Given the description of an element on the screen output the (x, y) to click on. 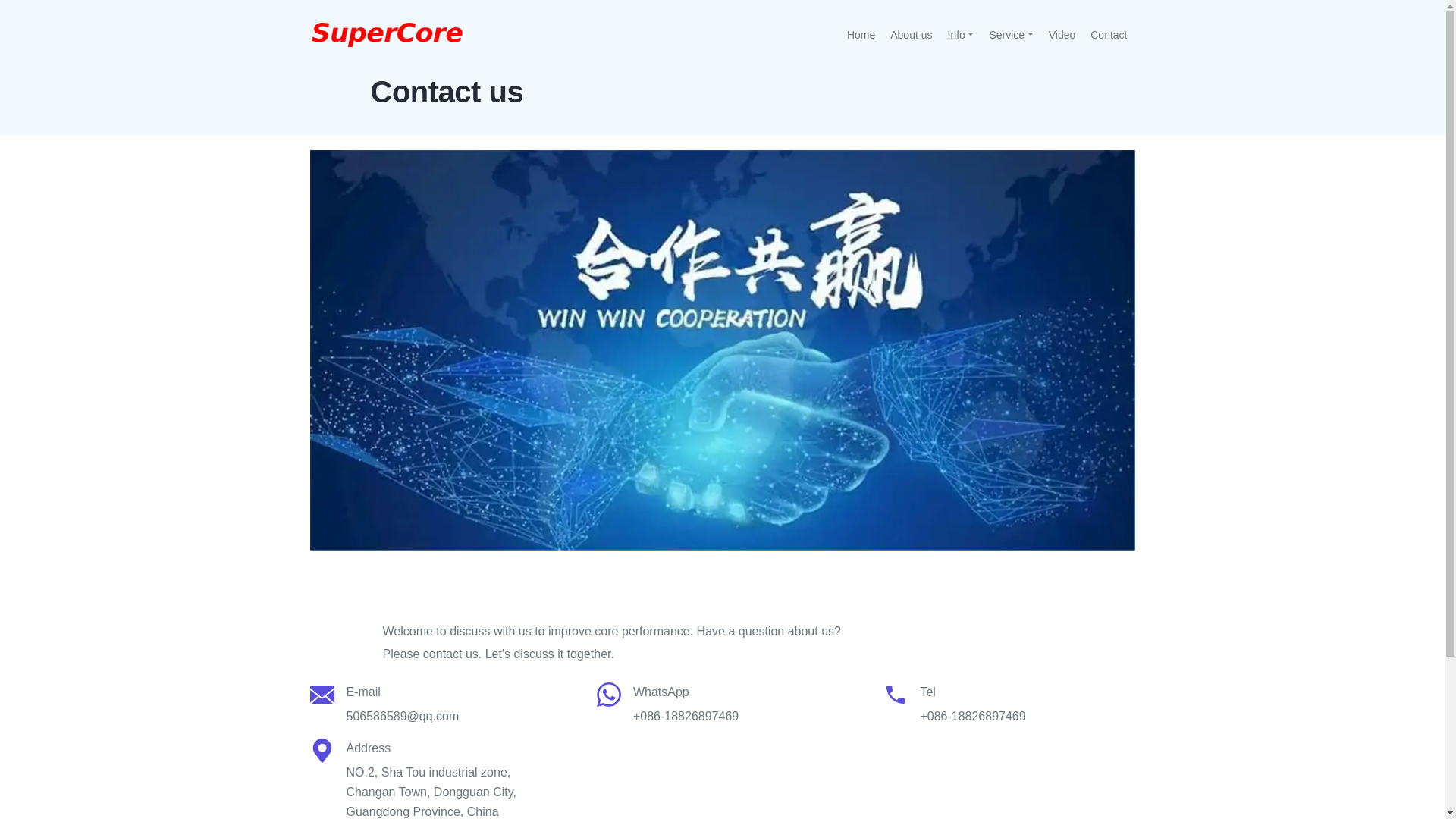
Video Element type: text (1062, 34)
Service Element type: text (1010, 34)
Home
(current) Element type: text (860, 34)
Info Element type: text (961, 34)
Contact us Element type: hover (721, 350)
About us Element type: text (910, 34)
Contact Element type: text (1108, 34)
